Given the description of an element on the screen output the (x, y) to click on. 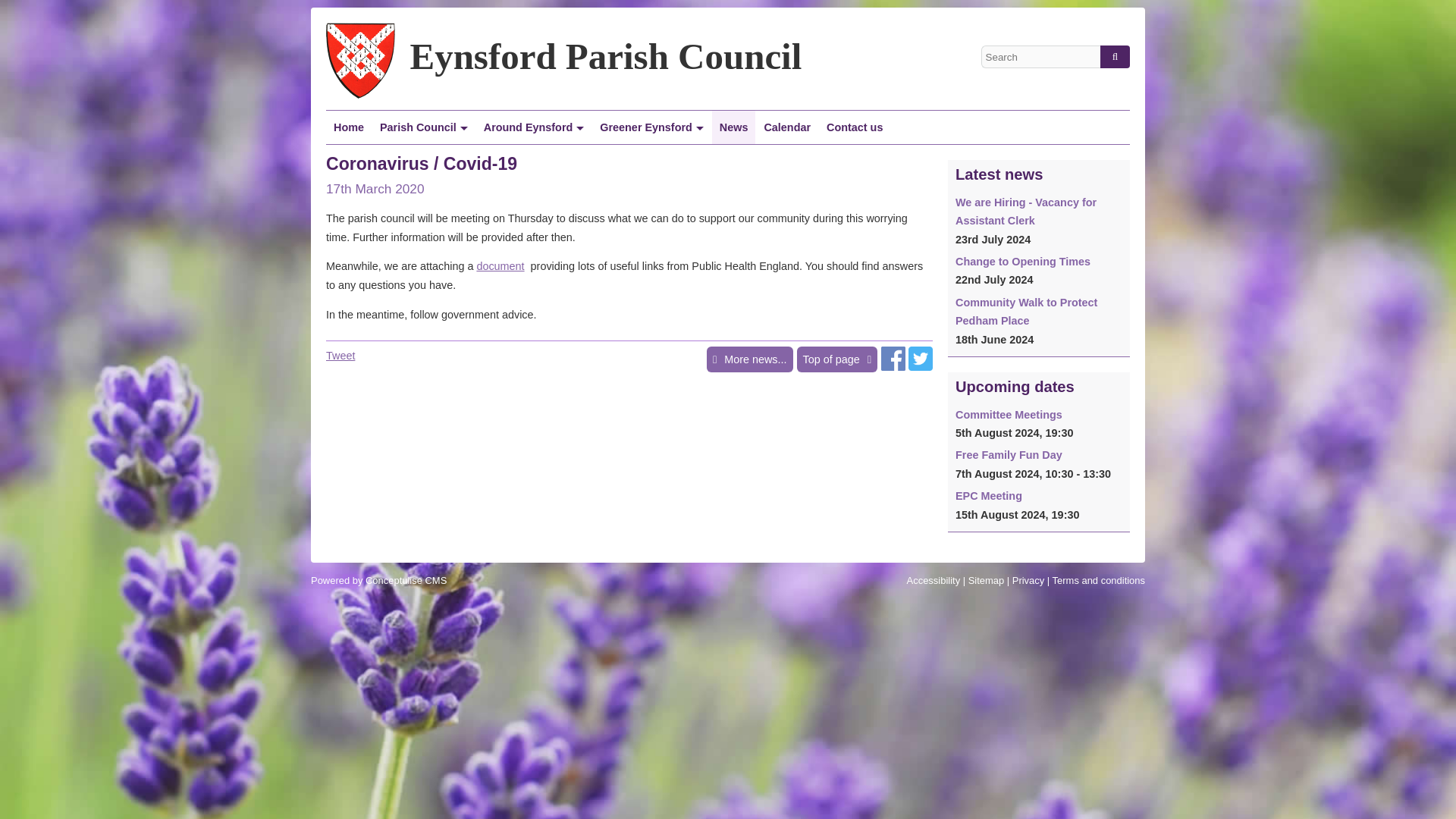
Website terms and conditions (1098, 580)
Eynsford Parish Council Twitter (920, 367)
Website site map (986, 580)
Around Eynsford (534, 127)
Free Family Fun Day (1008, 454)
Eynsford Parish Council homepage (349, 127)
Website privacy statement (1027, 580)
Conceptulise Content Management System (378, 580)
Home (349, 127)
EPC Meeting (988, 495)
Parish Council (424, 127)
Change to Opening Times (1022, 261)
Website Accessibility (933, 580)
We are Hiring - Vacancy for Assistant Clerk (1025, 211)
Community Walk to Protect Pedham Place (1026, 311)
